Given the description of an element on the screen output the (x, y) to click on. 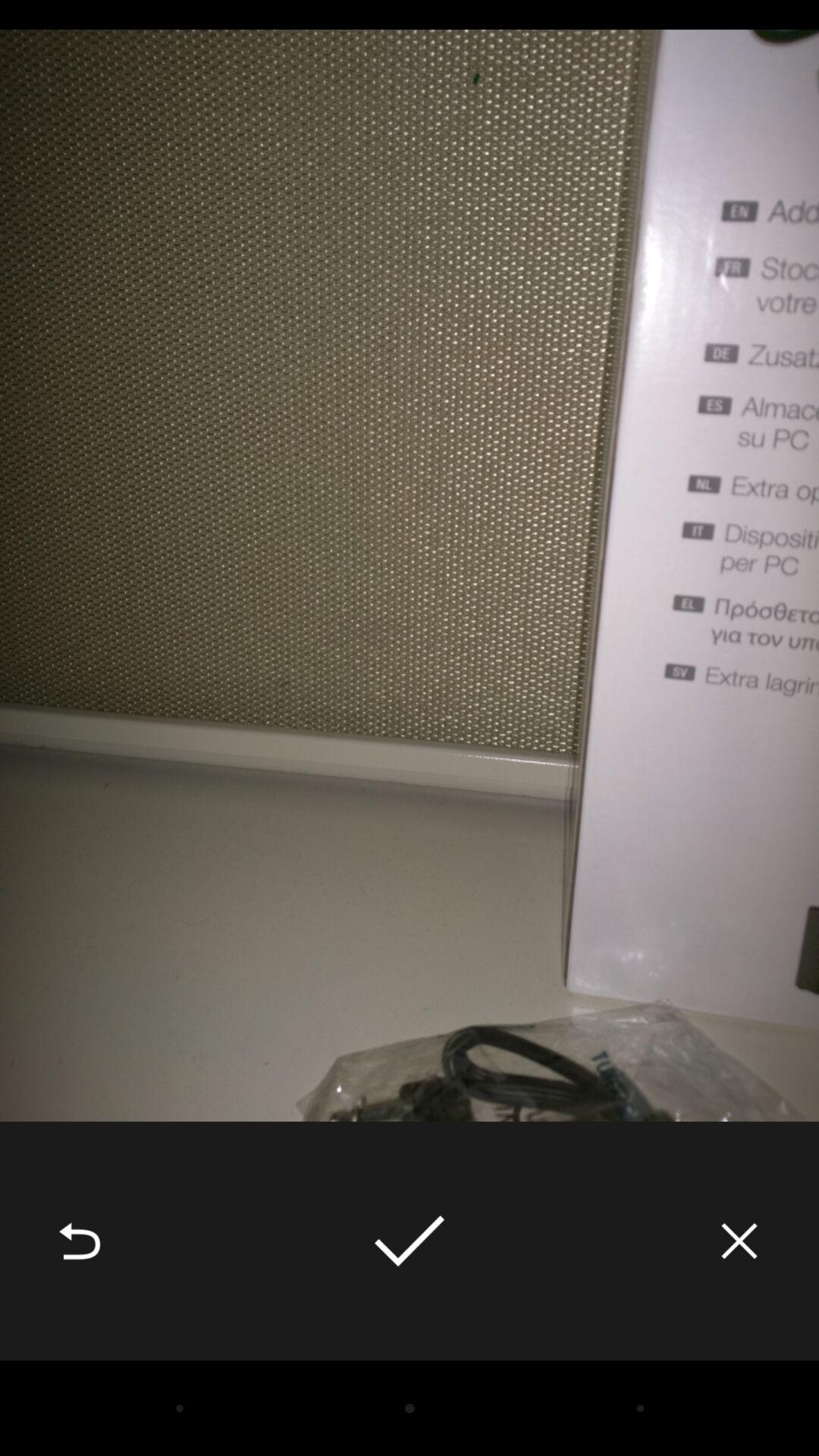
turn off the icon at the bottom left corner (79, 1240)
